Given the description of an element on the screen output the (x, y) to click on. 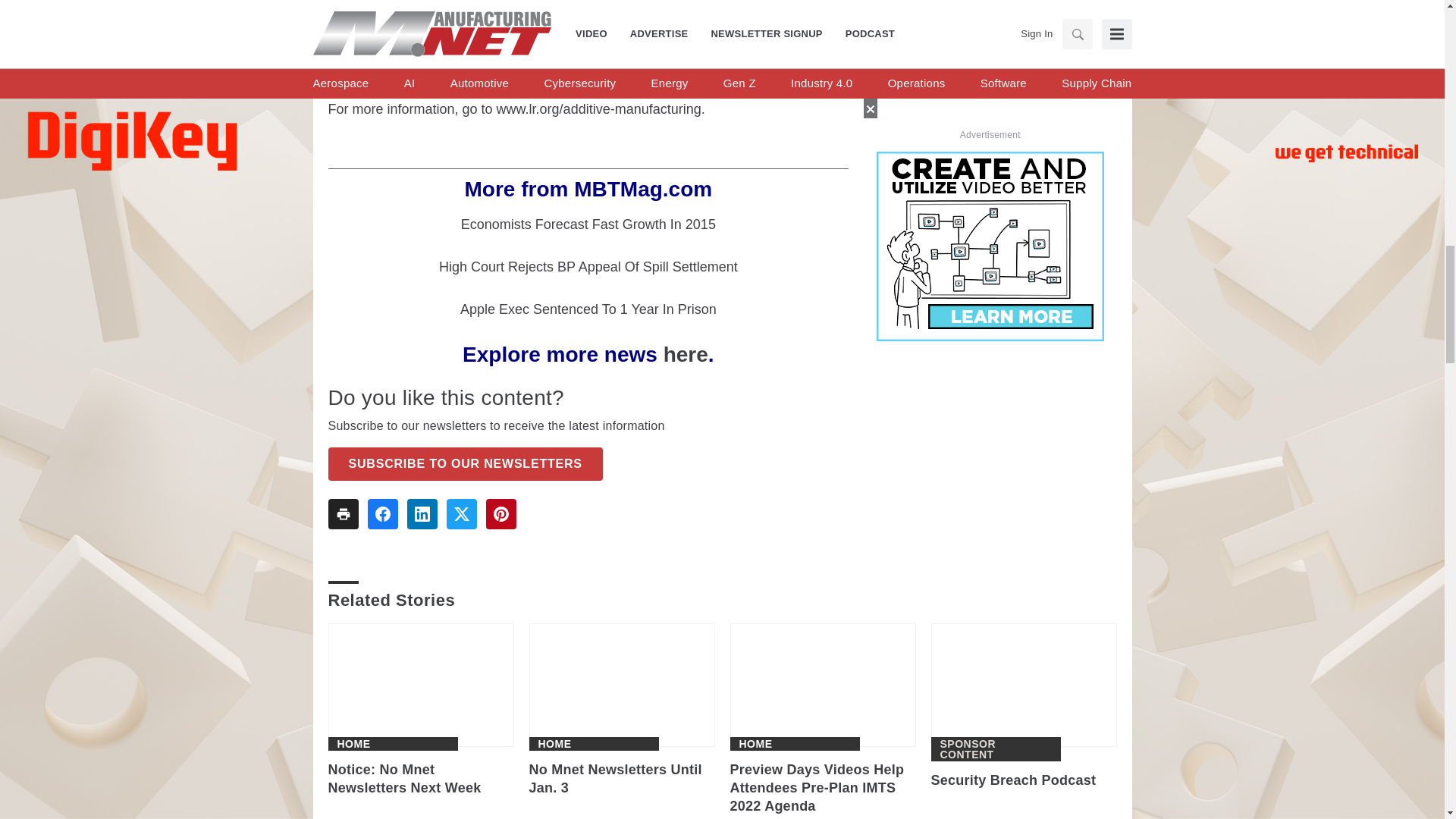
Share To twitter (460, 513)
Share To print (342, 513)
Share To linkedin (421, 513)
Share To pinterest (499, 513)
Share To facebook (381, 513)
